Given the description of an element on the screen output the (x, y) to click on. 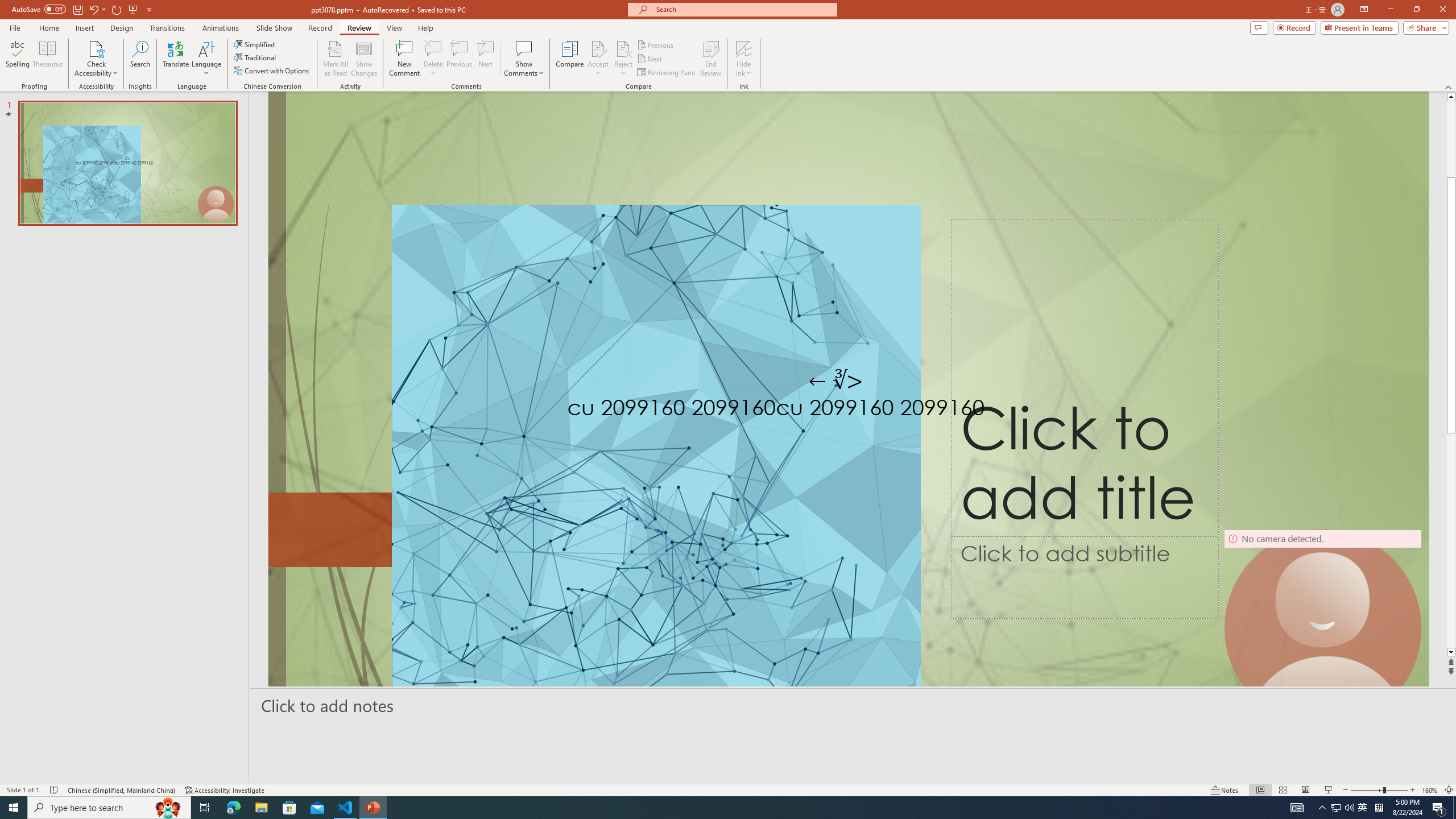
Accept Change (598, 48)
Microsoft search (742, 9)
Slide (127, 163)
Camera 9, No camera detected. (1322, 628)
